Given the description of an element on the screen output the (x, y) to click on. 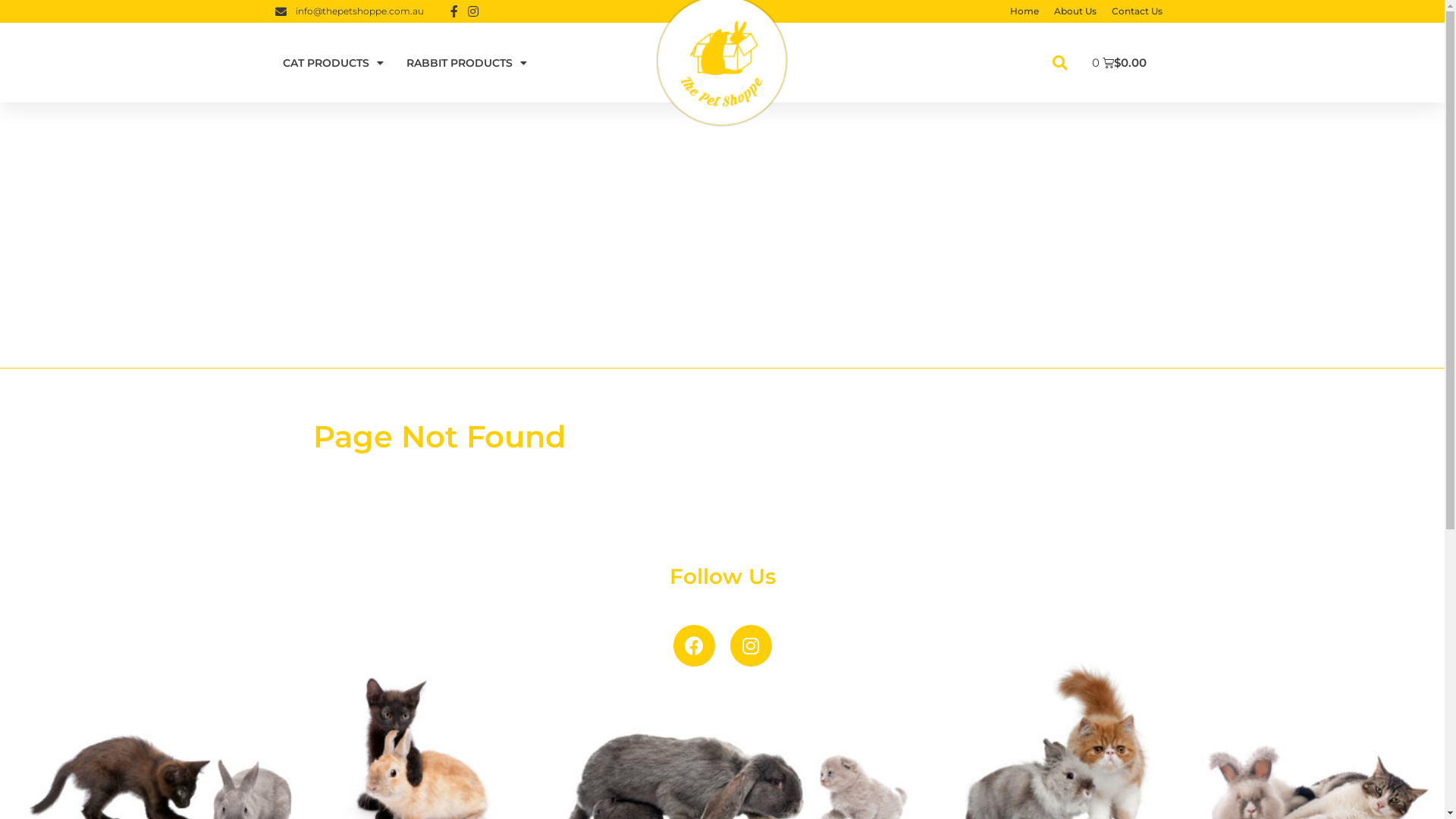
Contact Us Element type: text (1137, 11)
info@thepetshoppe.com.au Element type: text (348, 11)
$0.00 Element type: text (1121, 62)
RABBIT PRODUCTS Element type: text (466, 61)
About Us Element type: text (1075, 11)
CAT PRODUCTS Element type: text (332, 61)
Home Element type: text (1024, 11)
